Given the description of an element on the screen output the (x, y) to click on. 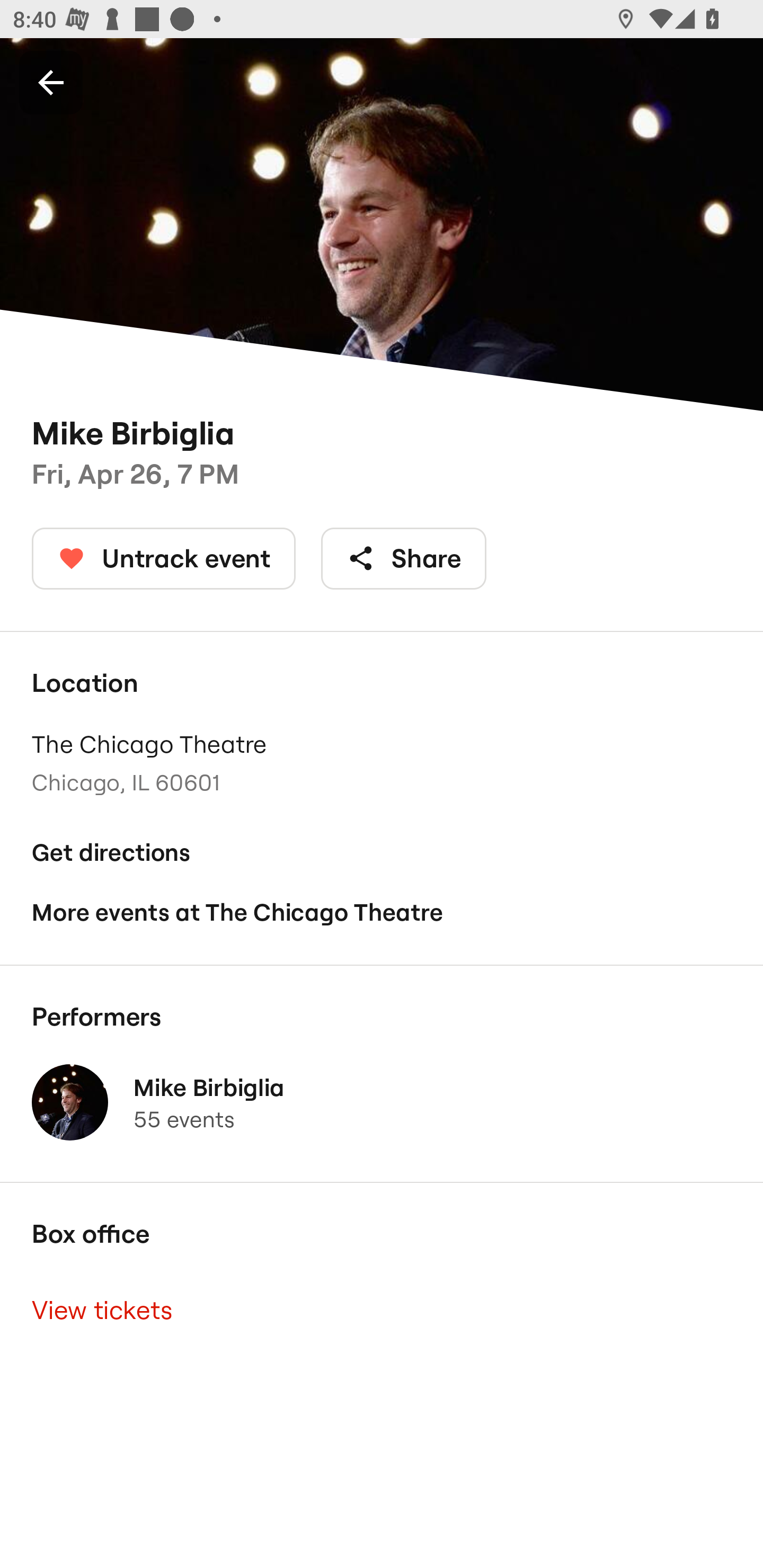
Back (50, 81)
Untrack event (164, 557)
Share (403, 557)
Get directions (381, 852)
More events at The Chicago Theatre (381, 912)
Mike Birbiglia 55 events (381, 1102)
View tickets (381, 1309)
